Given the description of an element on the screen output the (x, y) to click on. 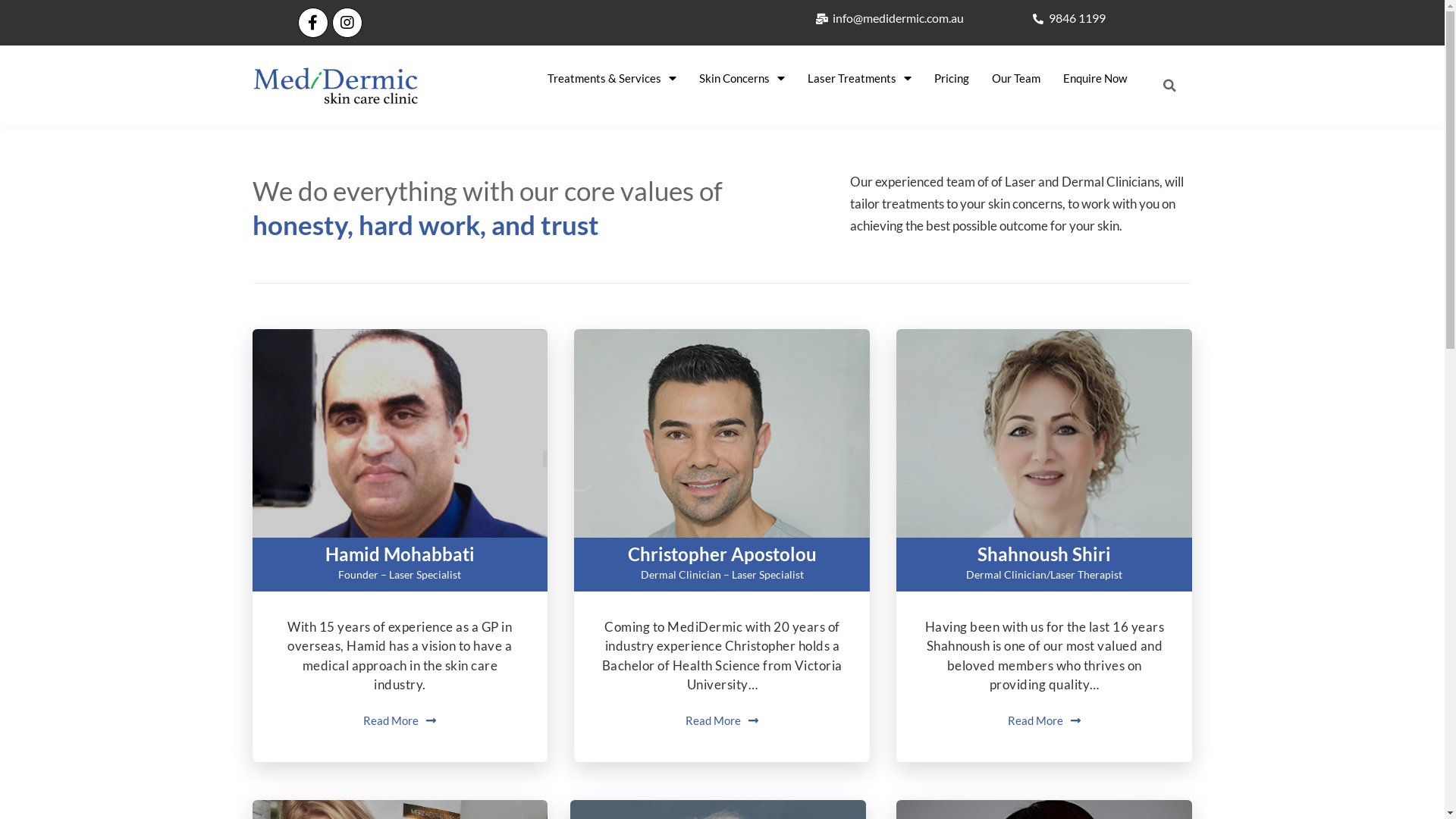
9846 1199 Element type: text (1067, 17)
info@medidermic.com.au Element type: text (889, 17)
Read More Element type: text (399, 720)
Pricing Element type: text (951, 77)
Laser Treatments Element type: text (859, 77)
Read More Element type: text (1043, 720)
Skin Concerns Element type: text (741, 77)
Treatments & Services Element type: text (611, 77)
Our Team Element type: text (1015, 77)
Read More Element type: text (721, 720)
Enquire Now Element type: text (1094, 77)
